Given the description of an element on the screen output the (x, y) to click on. 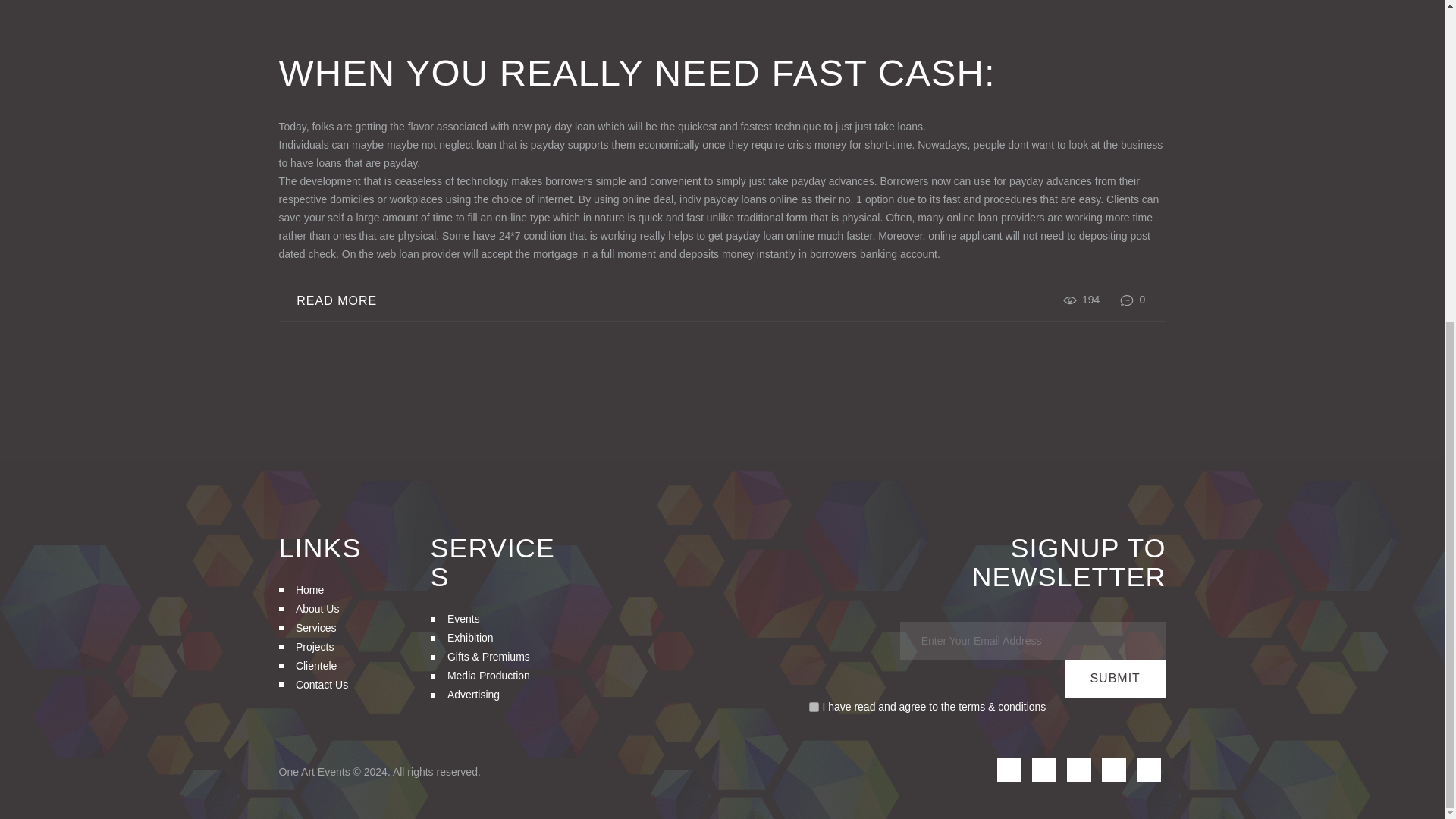
READ MORE (337, 300)
Submit (1115, 678)
1 (813, 706)
194 (1090, 299)
0 (1133, 299)
